Given the description of an element on the screen output the (x, y) to click on. 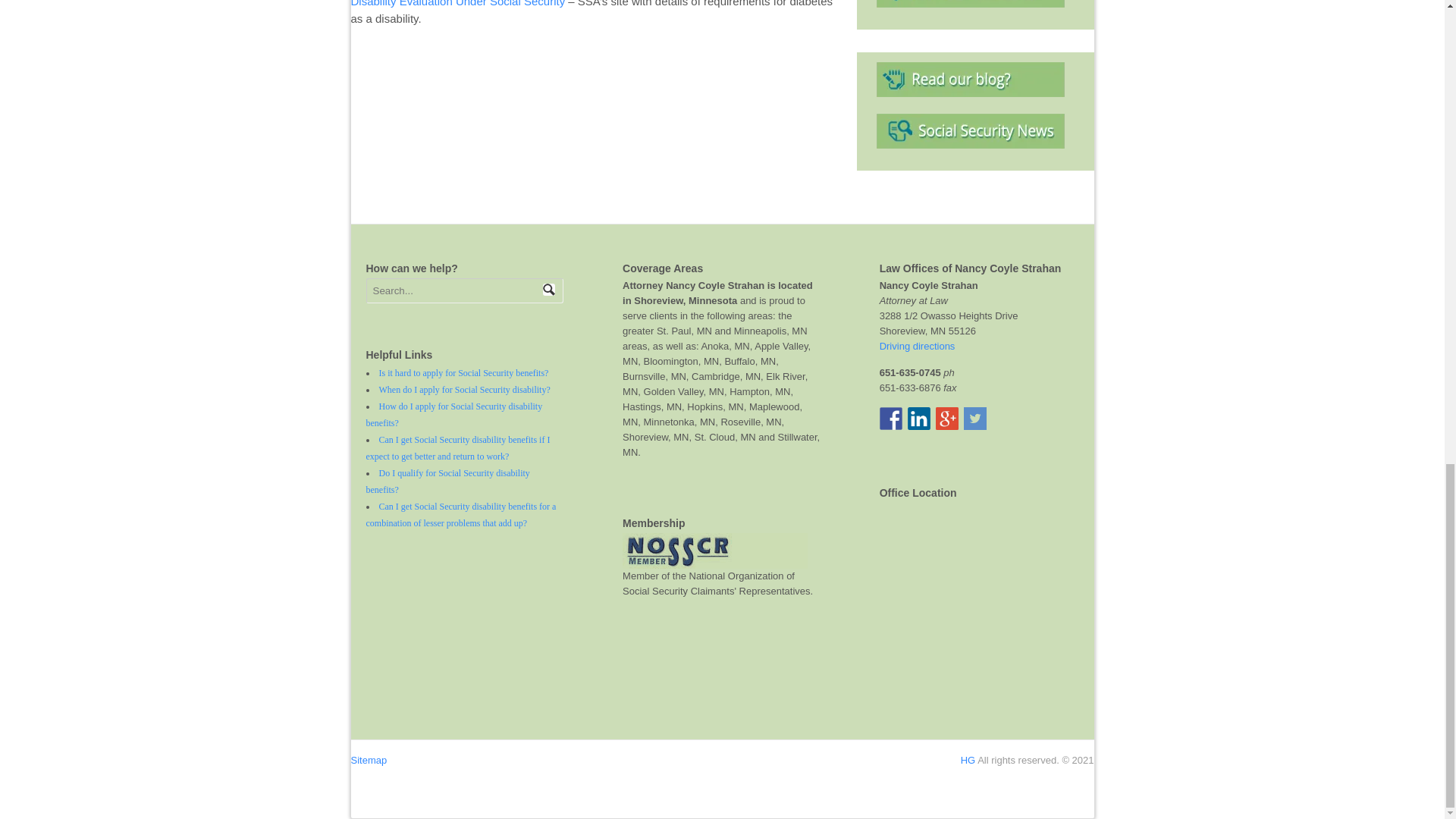
Search... (456, 290)
